Given the description of an element on the screen output the (x, y) to click on. 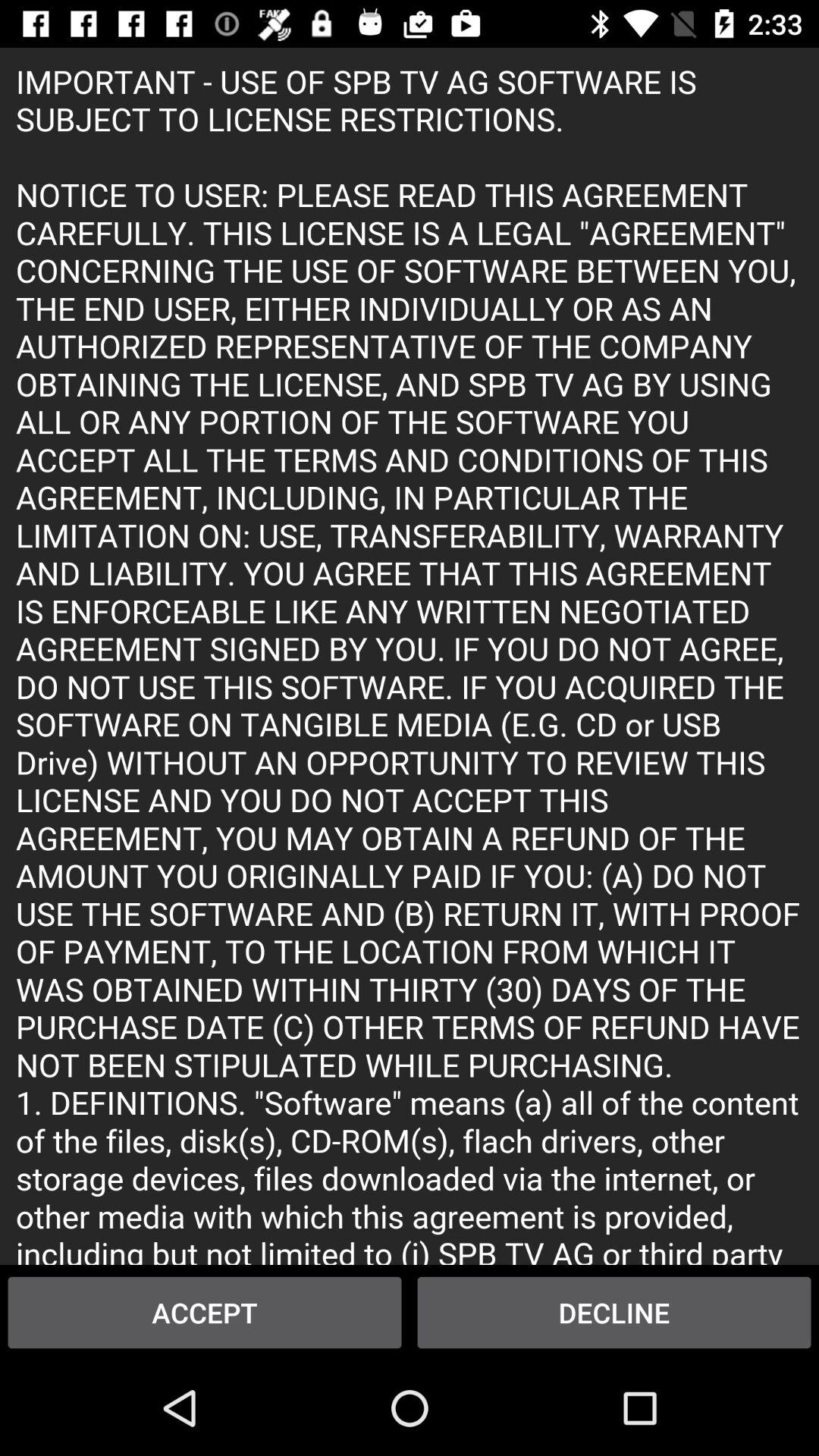
turn off the decline icon (614, 1312)
